Given the description of an element on the screen output the (x, y) to click on. 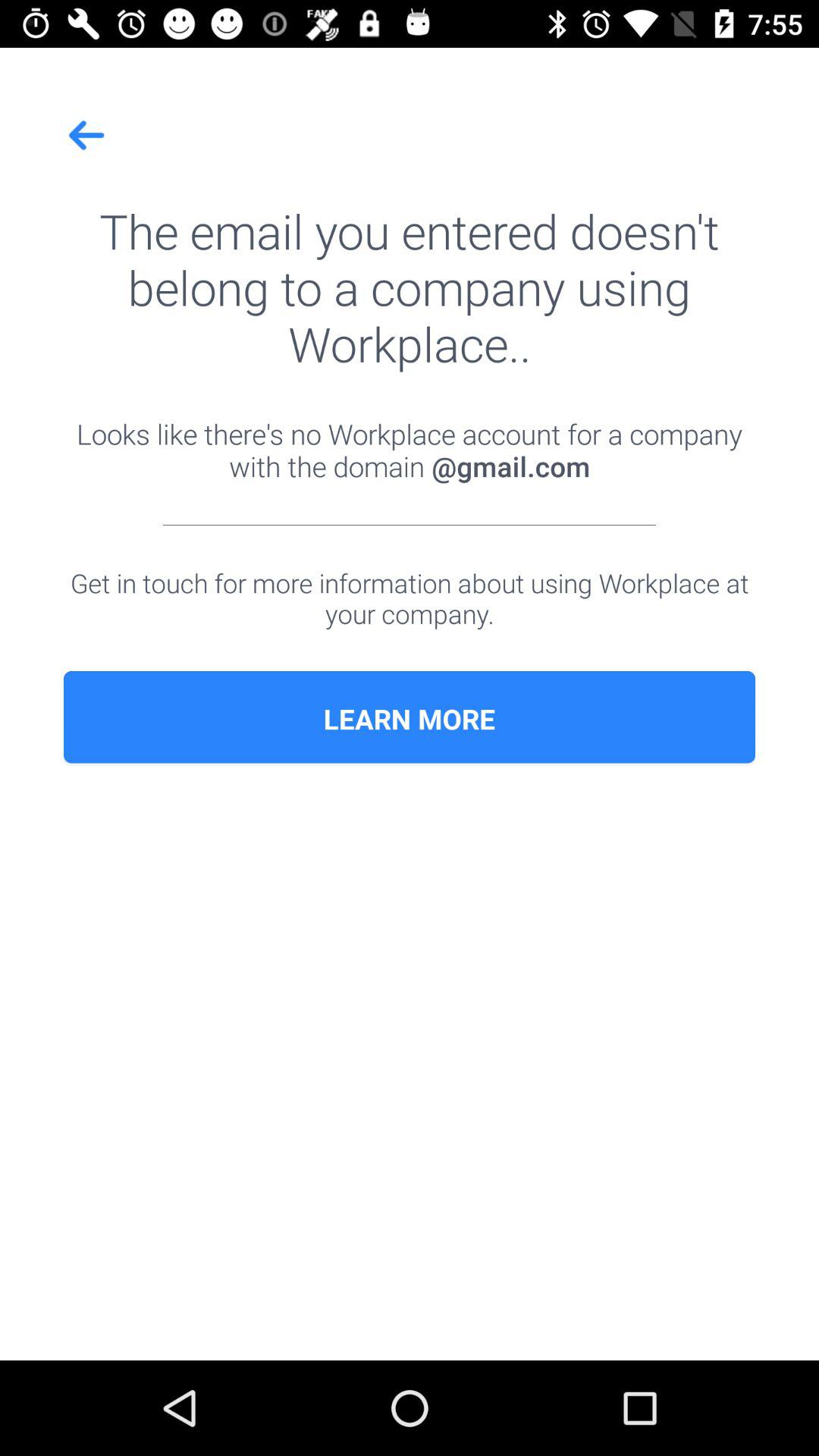
click icon above the email you item (87, 135)
